Given the description of an element on the screen output the (x, y) to click on. 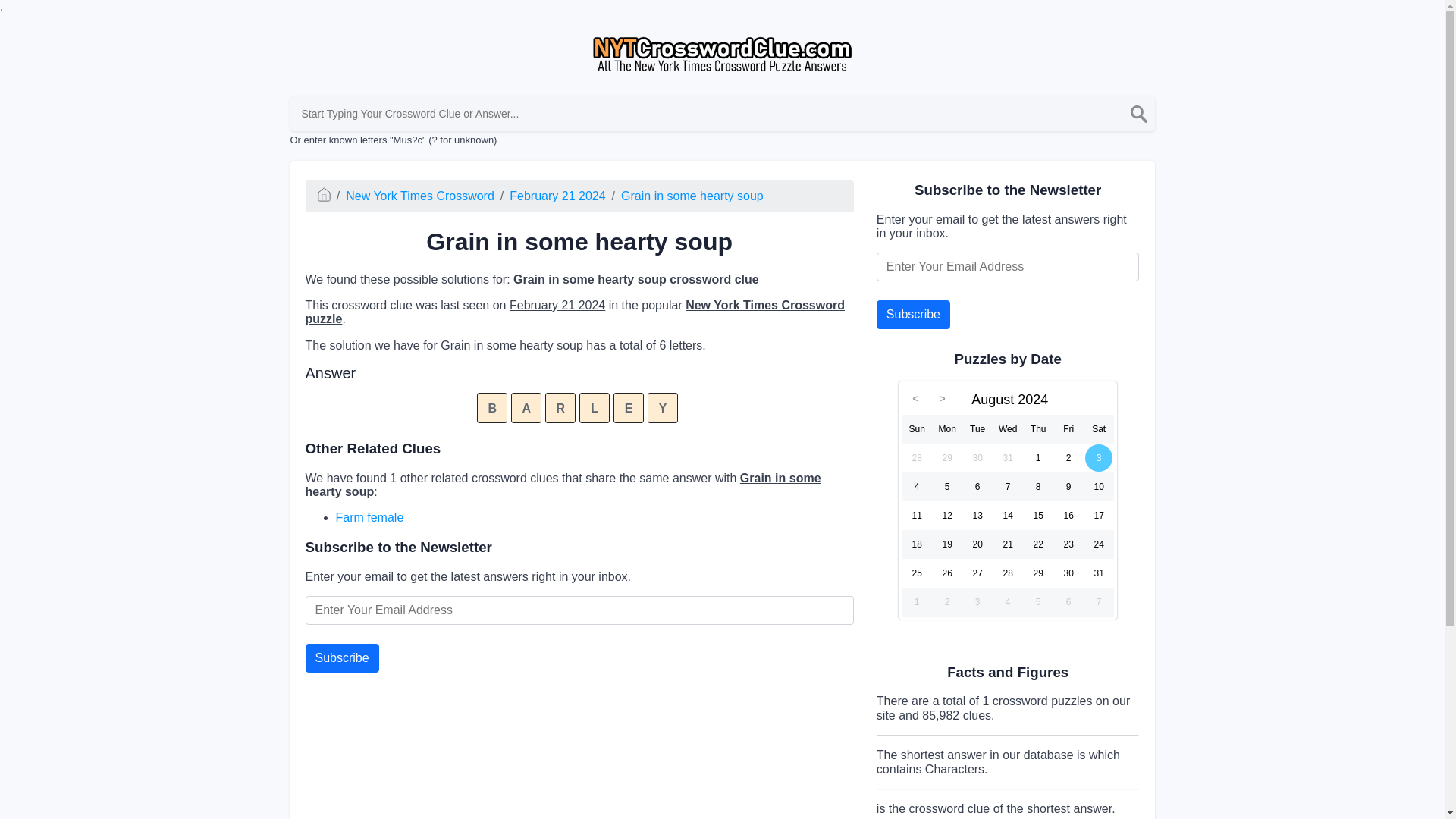
Subscribe (913, 314)
Grain in some hearty soup (691, 195)
New York Times Crossword (420, 195)
Farm female (368, 517)
Subscribe (913, 314)
February 21 2024 (557, 195)
Subscribe (341, 657)
Subscribe (341, 657)
